Given the description of an element on the screen output the (x, y) to click on. 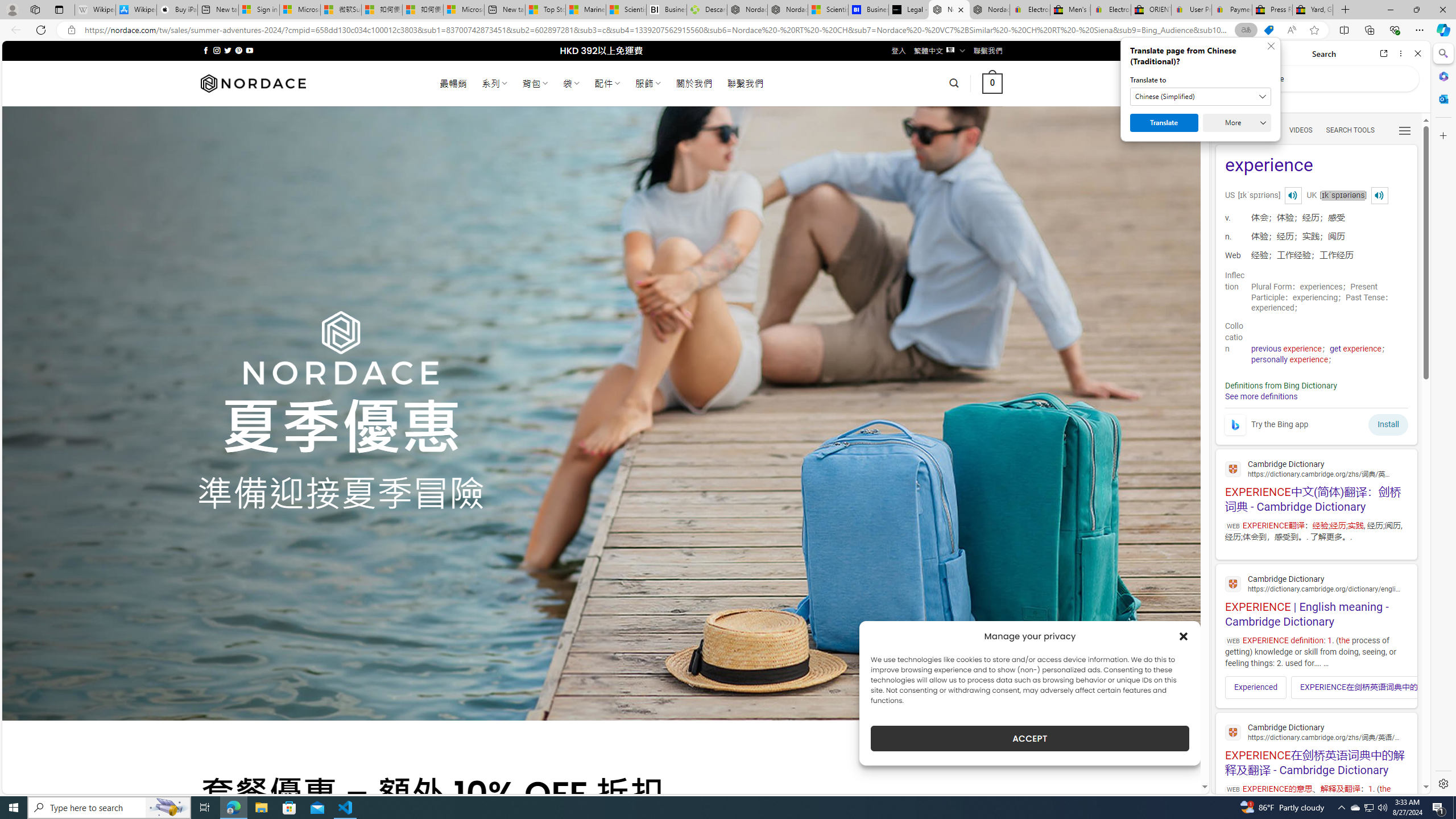
More (1236, 122)
VIDEOS (1300, 130)
Yard, Garden & Outdoor Living (1312, 9)
Follow on Pinterest (237, 50)
Nordace - Summer Adventures 2024 (949, 9)
See more definitions (1260, 396)
experience (1315, 165)
Web scope (1230, 102)
Preferences (1403, 129)
